Given the description of an element on the screen output the (x, y) to click on. 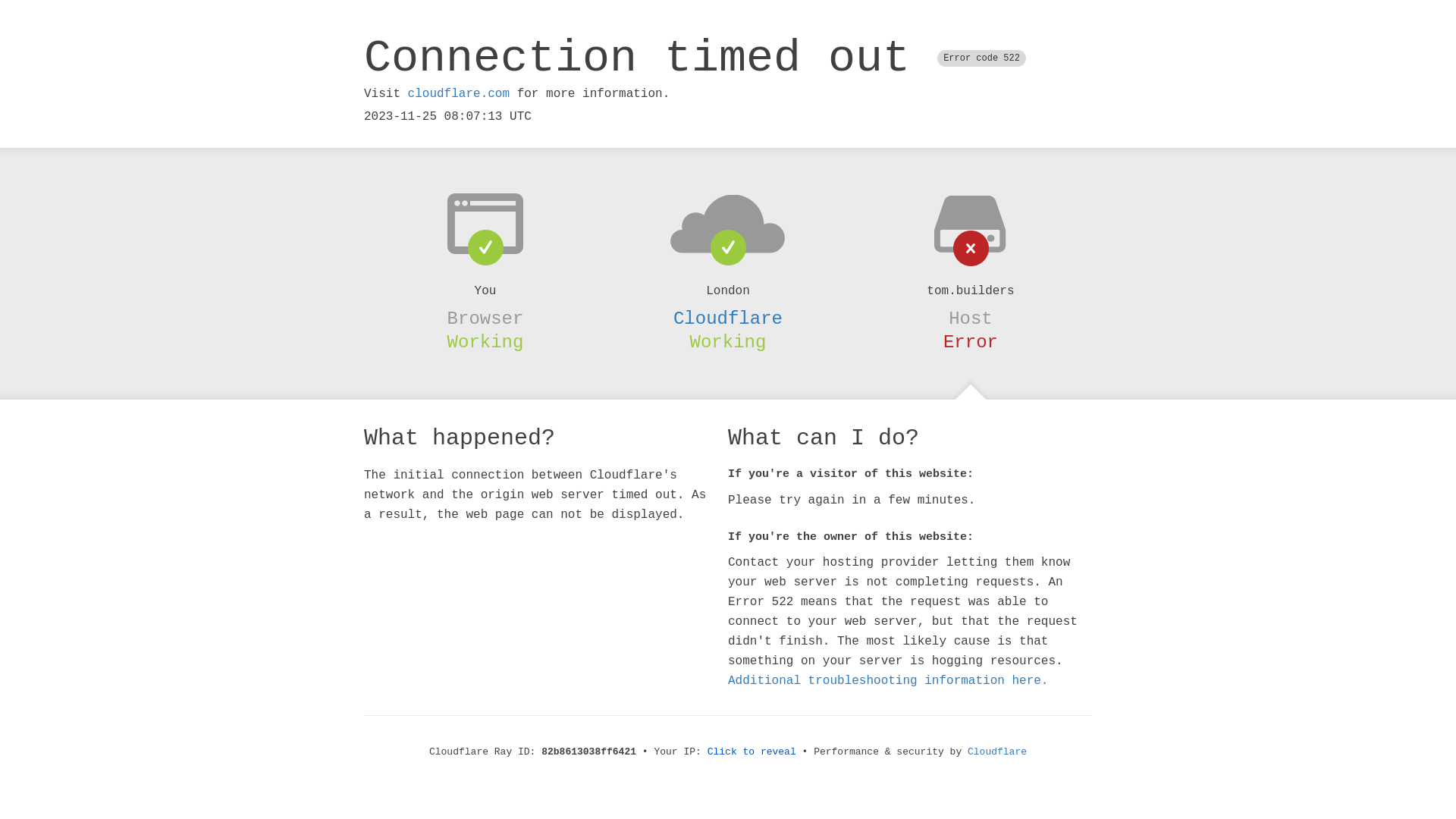
Additional troubleshooting information here. Element type: text (888, 680)
Cloudflare Element type: text (996, 751)
Cloudflare Element type: text (727, 318)
Click to reveal Element type: text (751, 751)
cloudflare.com Element type: text (458, 93)
